Given the description of an element on the screen output the (x, y) to click on. 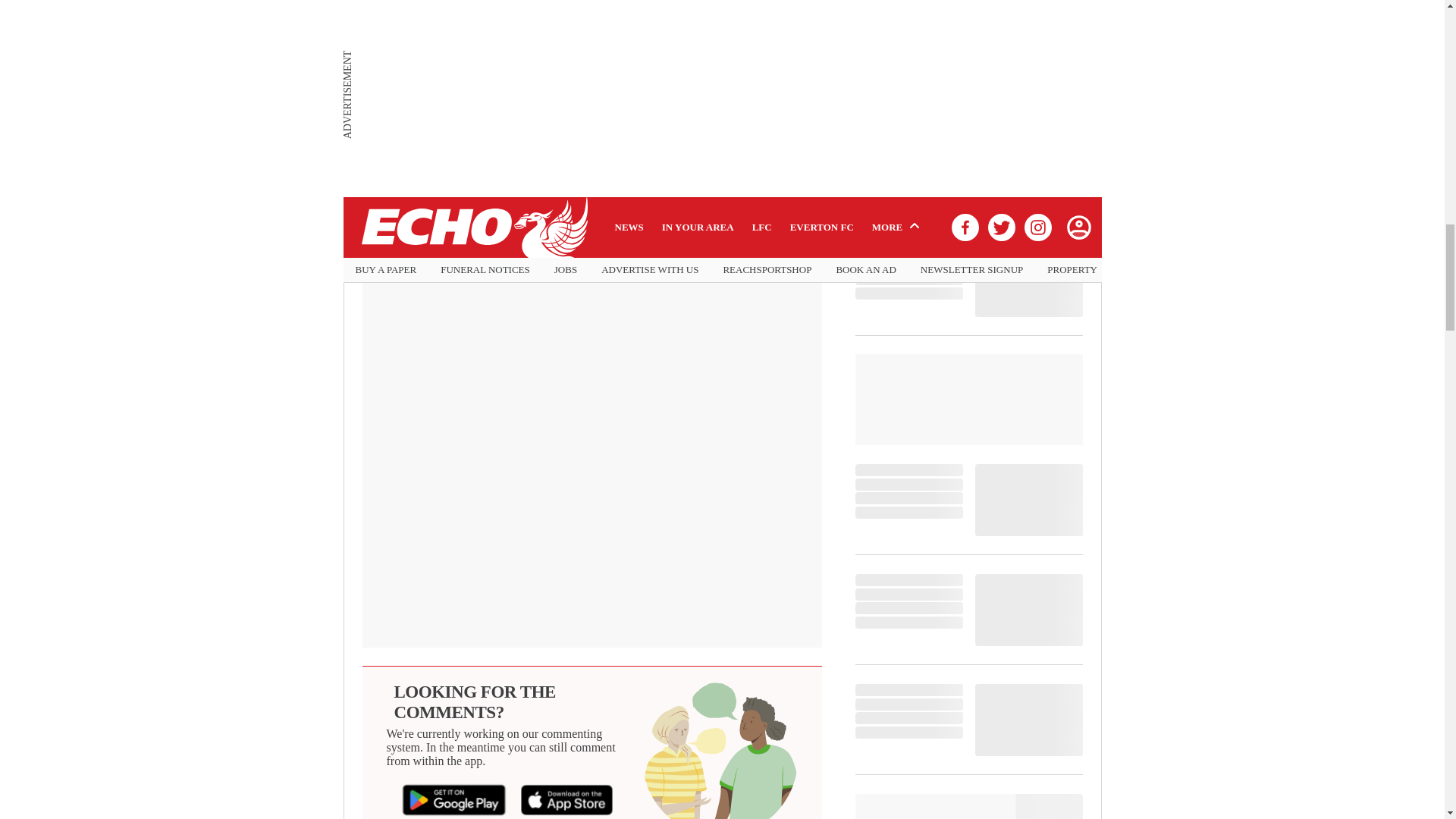
Facebook (421, 235)
Twitter (533, 235)
More info (721, 21)
Instagram (646, 235)
